Given the description of an element on the screen output the (x, y) to click on. 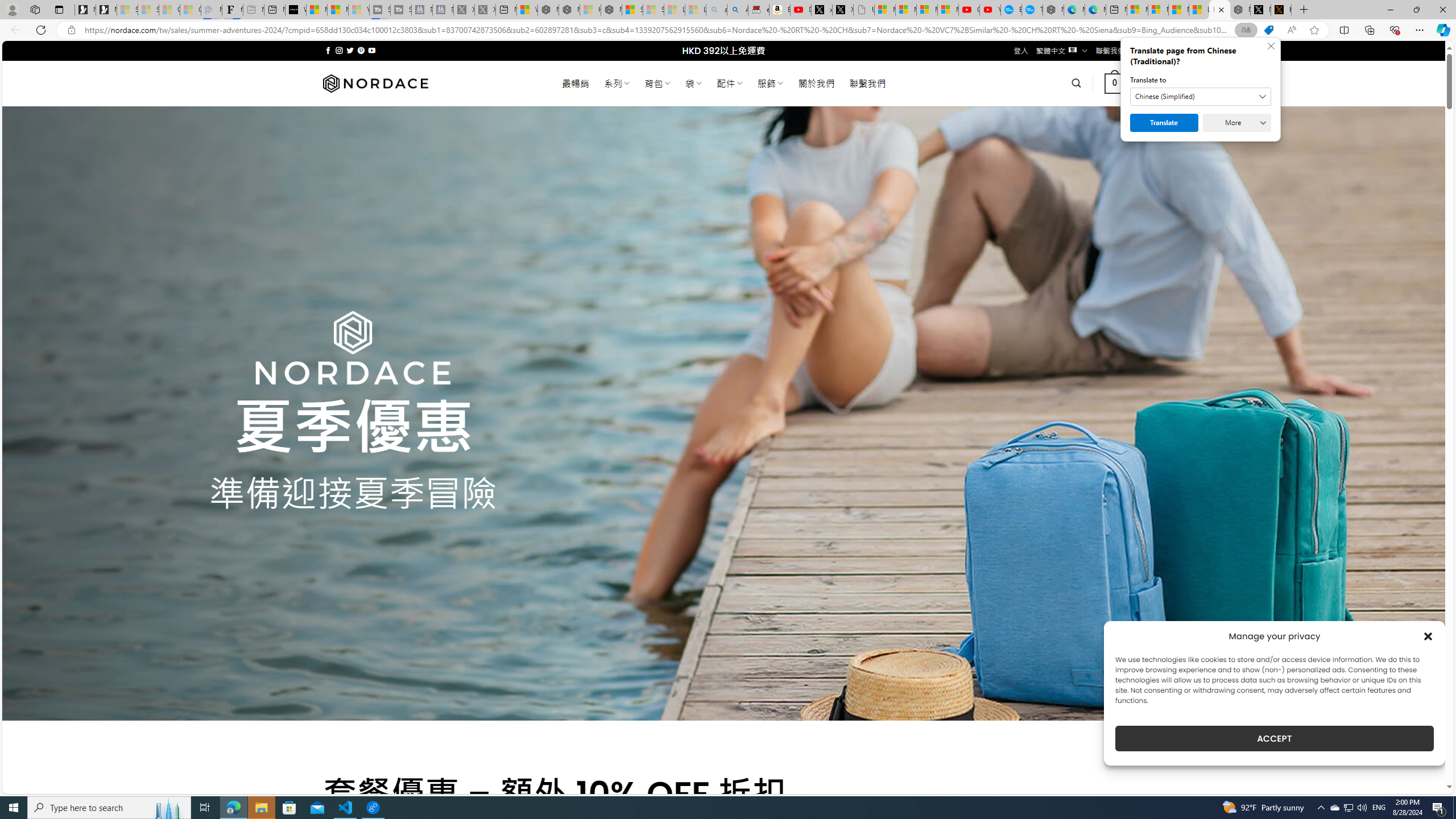
Nordace - Nordace has arrived Hong Kong (1053, 9)
This site has coupons! Shopping in Microsoft Edge (1268, 29)
More (1236, 122)
Follow on Facebook (327, 50)
Untitled (863, 9)
Gloom - YouTube (968, 9)
Translate to (1200, 96)
